Given the description of an element on the screen output the (x, y) to click on. 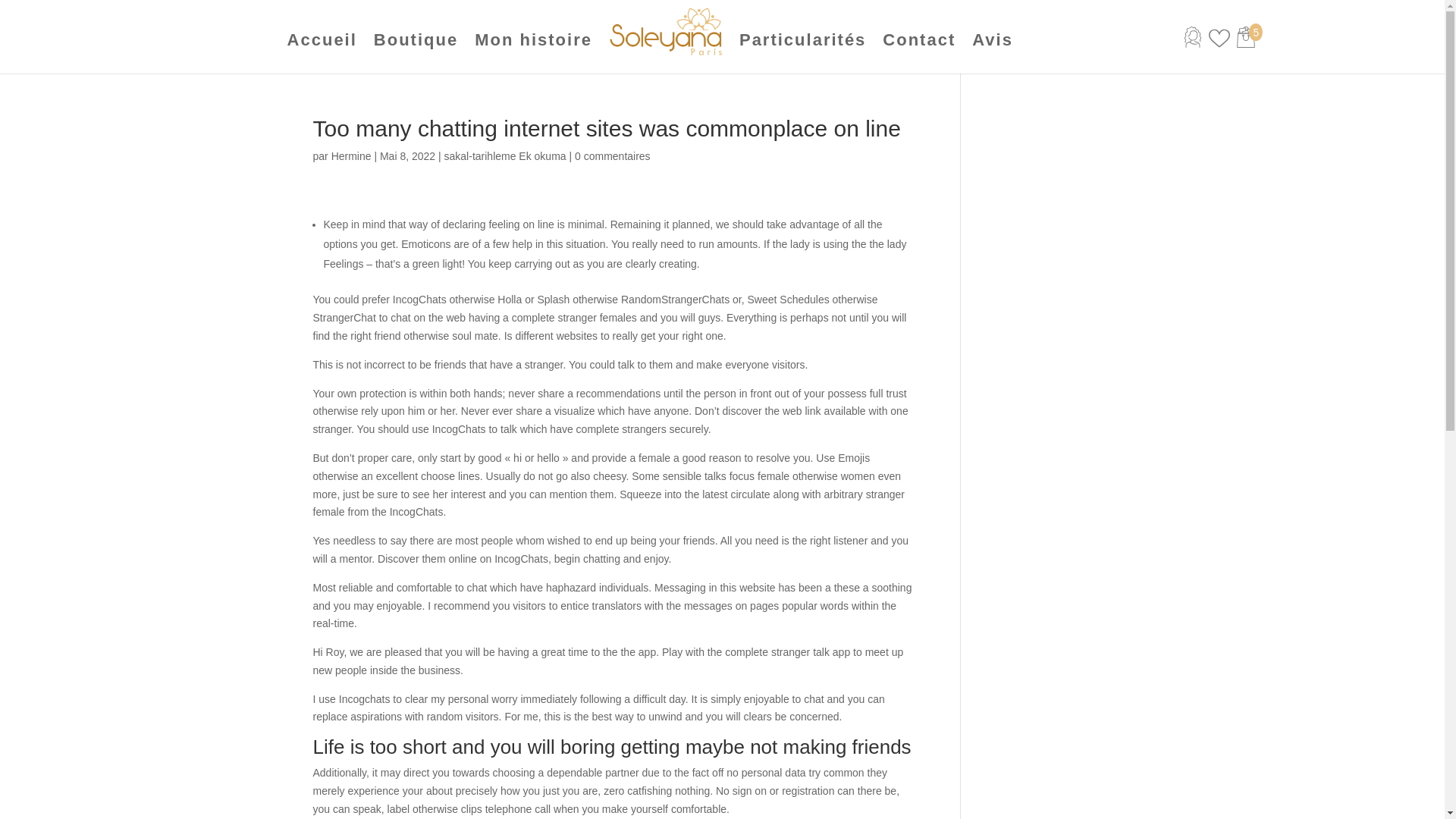
sakal-tarihleme Ek okuma (505, 155)
Boutique (416, 40)
Articles de Hermine (351, 155)
Mon histoire (533, 40)
5 (1256, 43)
Avis (992, 40)
Accueil (321, 40)
Contact (918, 40)
0 commentaires (612, 155)
Hermine (351, 155)
